Given the description of an element on the screen output the (x, y) to click on. 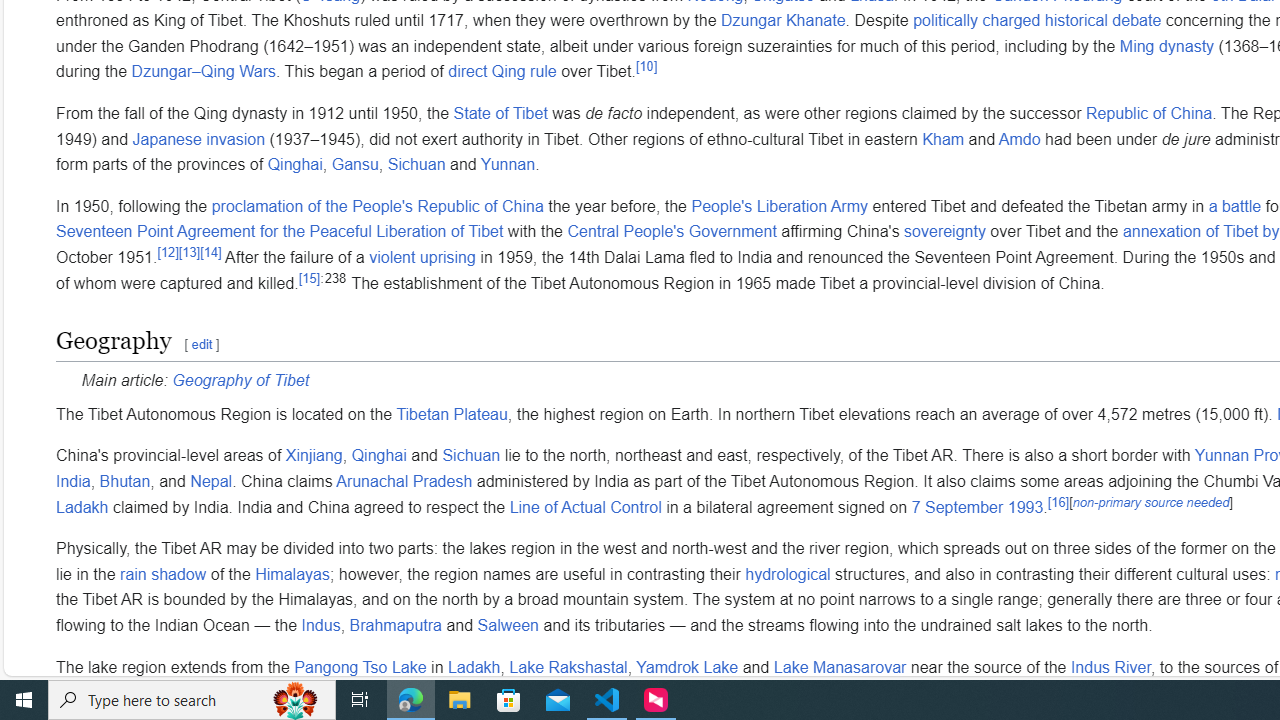
Line of Actual Control (585, 507)
Central People's Government (671, 232)
Republic of China (1149, 114)
Kham (943, 139)
[13] (188, 251)
Lake Rakshastal (568, 667)
[15] (309, 277)
Salween (507, 625)
a battle (1235, 206)
Himalayas (292, 574)
Tibetan Plateau (451, 413)
politically charged historical debate (1037, 21)
sovereignty (944, 232)
violent uprising (422, 256)
